Given the description of an element on the screen output the (x, y) to click on. 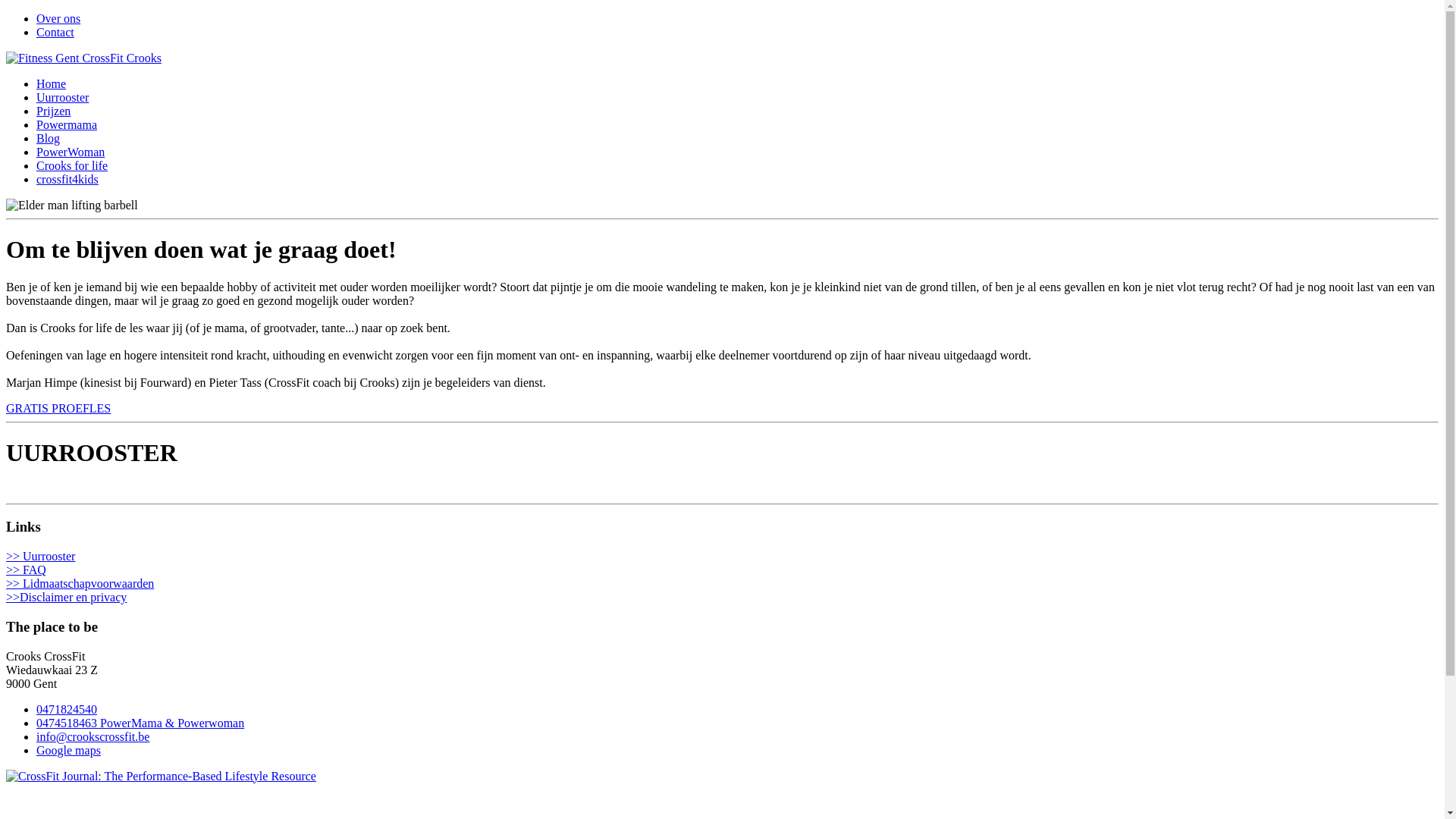
GRATIS PROEFLES Element type: text (58, 407)
Google maps Element type: text (68, 749)
Over ons Element type: text (58, 18)
Home Element type: text (50, 83)
Prijzen Element type: text (53, 110)
PowerWoman Element type: text (70, 151)
>> FAQ Element type: text (722, 570)
crossfit4kids Element type: text (67, 178)
>>Disclaimer en privacy Element type: text (722, 597)
Uurrooster Element type: text (62, 97)
>> Uurrooster Element type: text (722, 556)
0471824540 Element type: text (66, 708)
Blog Element type: text (47, 137)
Krachttraining ouderen Element type: hover (72, 205)
Contact Element type: text (55, 31)
Powermama Element type: text (66, 124)
CrossFit Journal: The Performance-Based Lifestyle Resource Element type: hover (161, 775)
Crooks for life Element type: text (71, 165)
>> Lidmaatschapvoorwaarden Element type: text (722, 583)
0474518463 PowerMama & Powerwoman Element type: text (140, 722)
info@crookscrossfit.be Element type: text (92, 736)
